Given the description of an element on the screen output the (x, y) to click on. 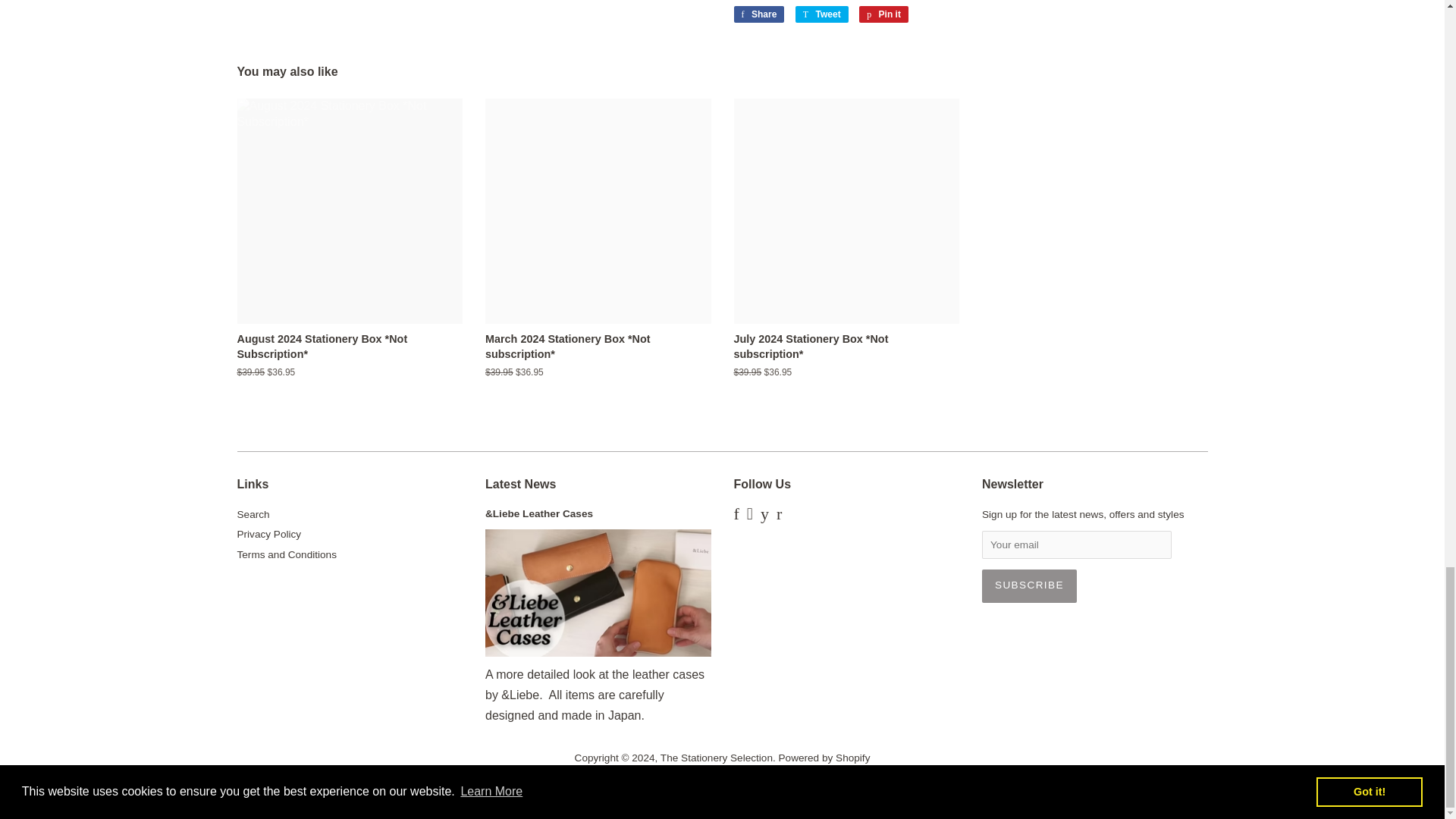
American Express (568, 782)
Pin on Pinterest (883, 13)
Visa (874, 782)
Subscribe (1029, 585)
JCB (743, 782)
Apple Pay (612, 782)
Share on Facebook (758, 13)
Diners Club (656, 782)
Mastercard (787, 782)
PayPal (830, 782)
